Given the description of an element on the screen output the (x, y) to click on. 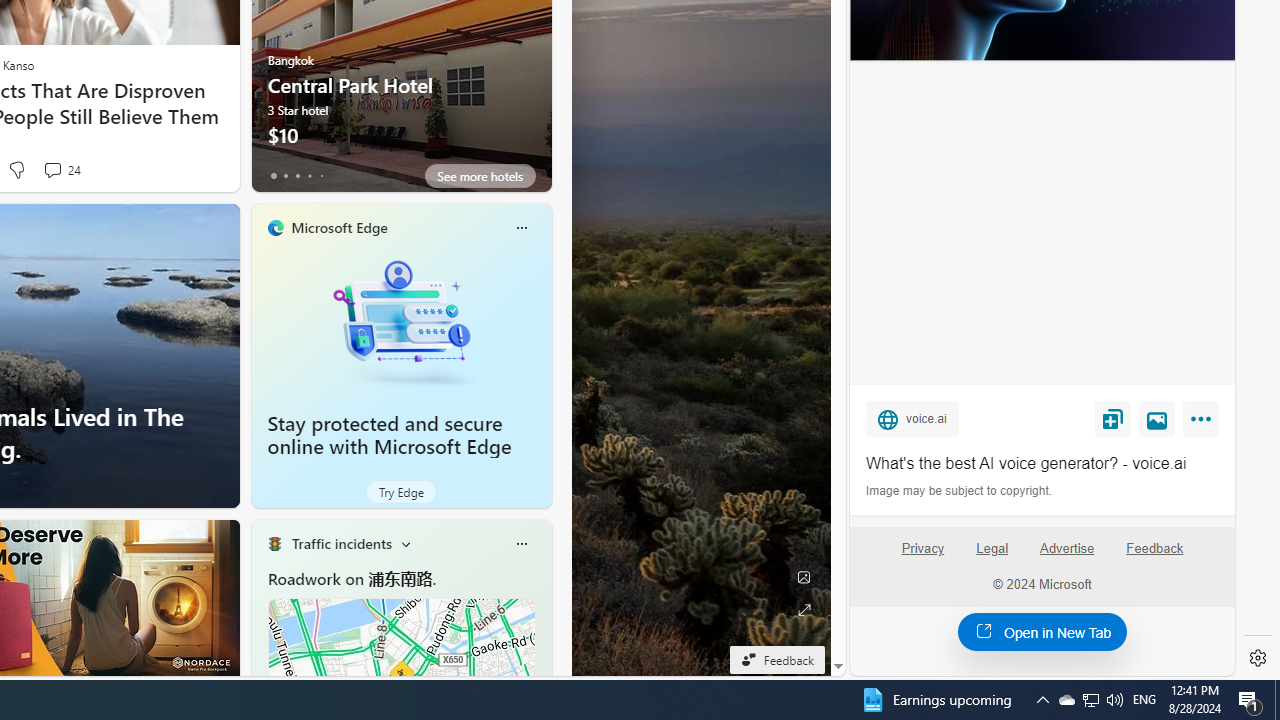
tab-2 (297, 175)
View comments 24 Comment (61, 170)
Legal (991, 547)
Save (1112, 419)
Traffic Title Traffic Light (274, 543)
tab-4 (320, 175)
Microsoft Edge (338, 227)
